Given the description of an element on the screen output the (x, y) to click on. 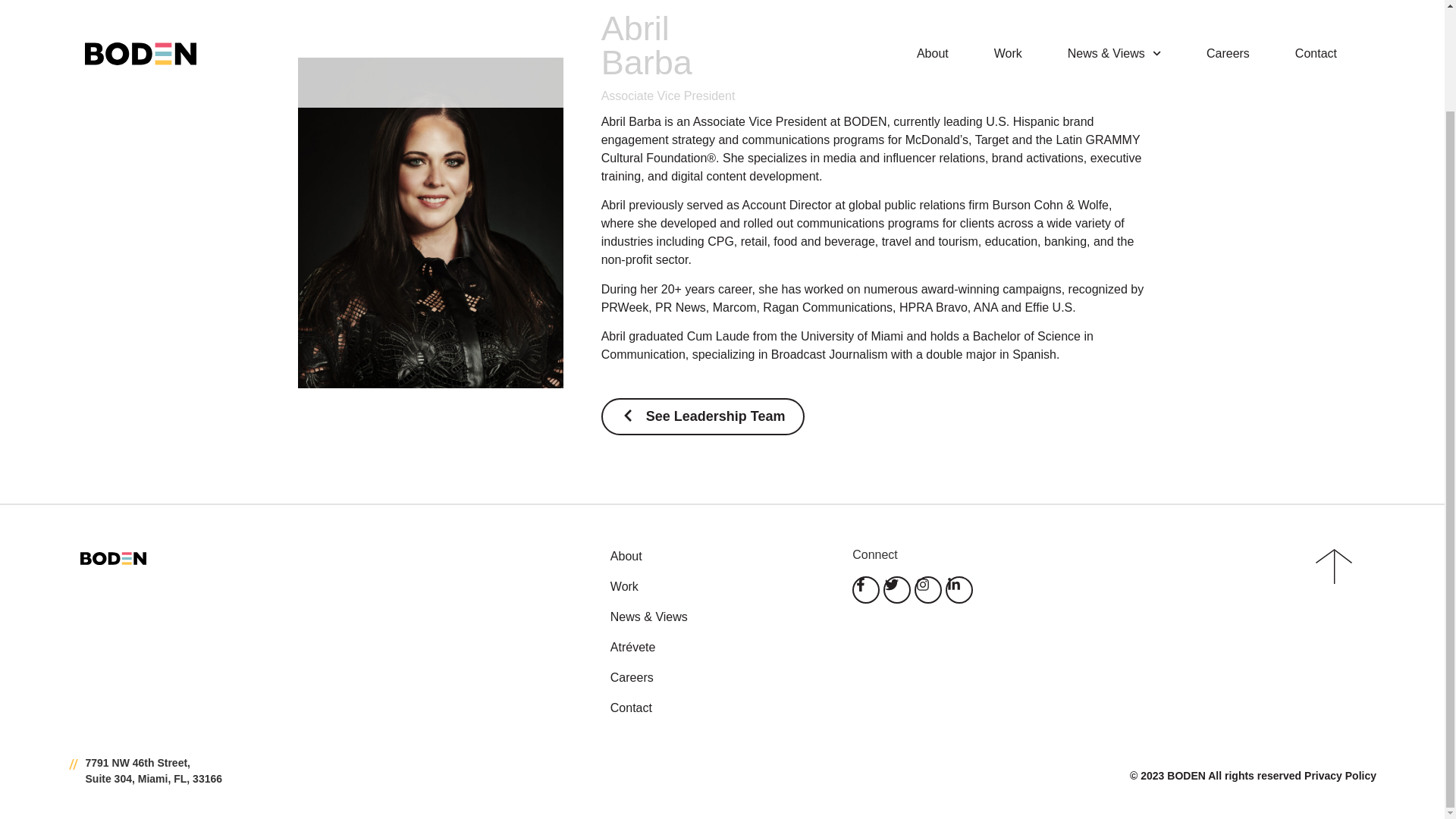
See Leadership Team (703, 416)
About (716, 556)
Contact (716, 708)
Careers (716, 677)
Work (716, 586)
